Given the description of an element on the screen output the (x, y) to click on. 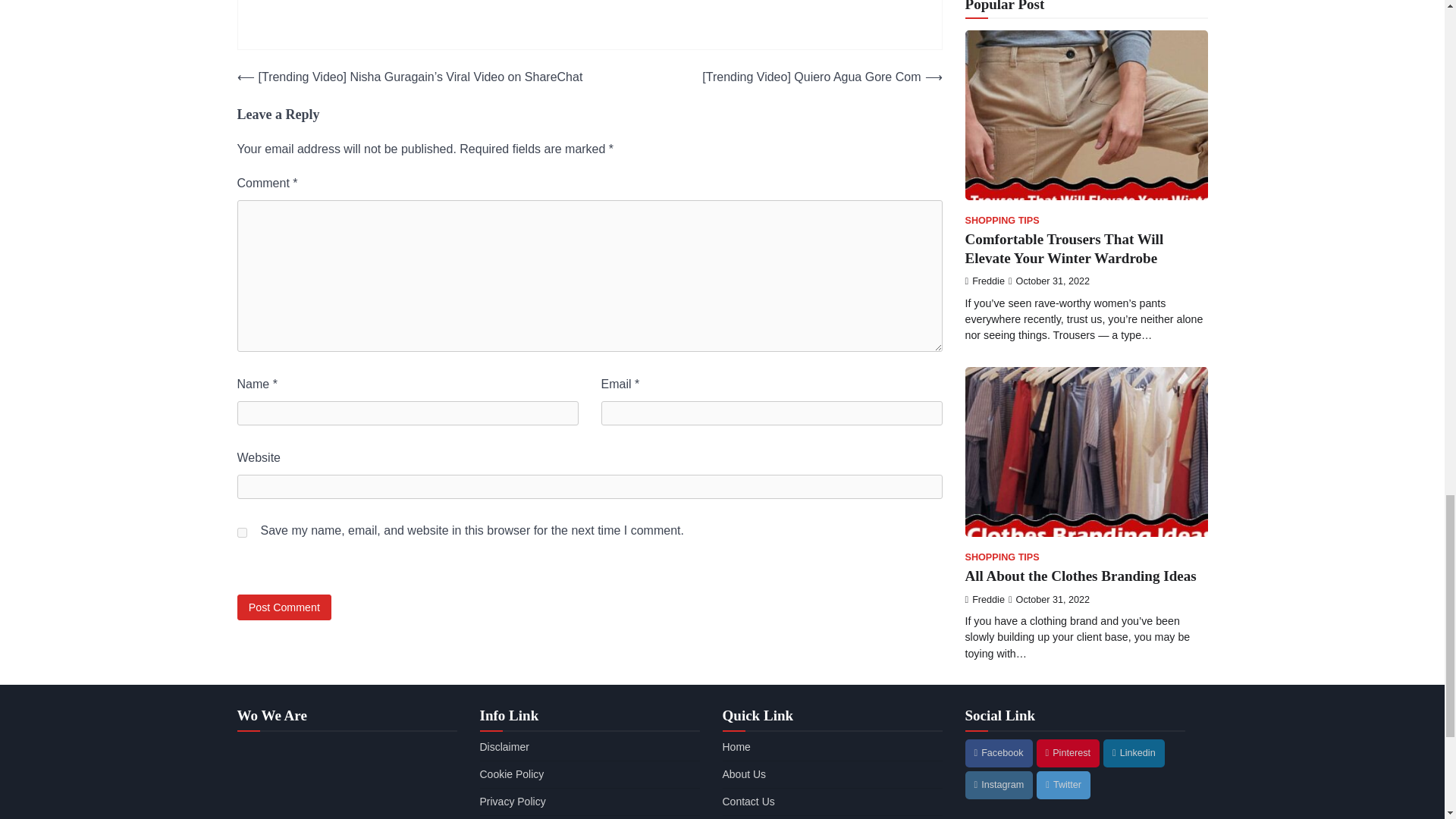
Post Comment (283, 606)
Post Comment (283, 606)
yes (240, 532)
